Given the description of an element on the screen output the (x, y) to click on. 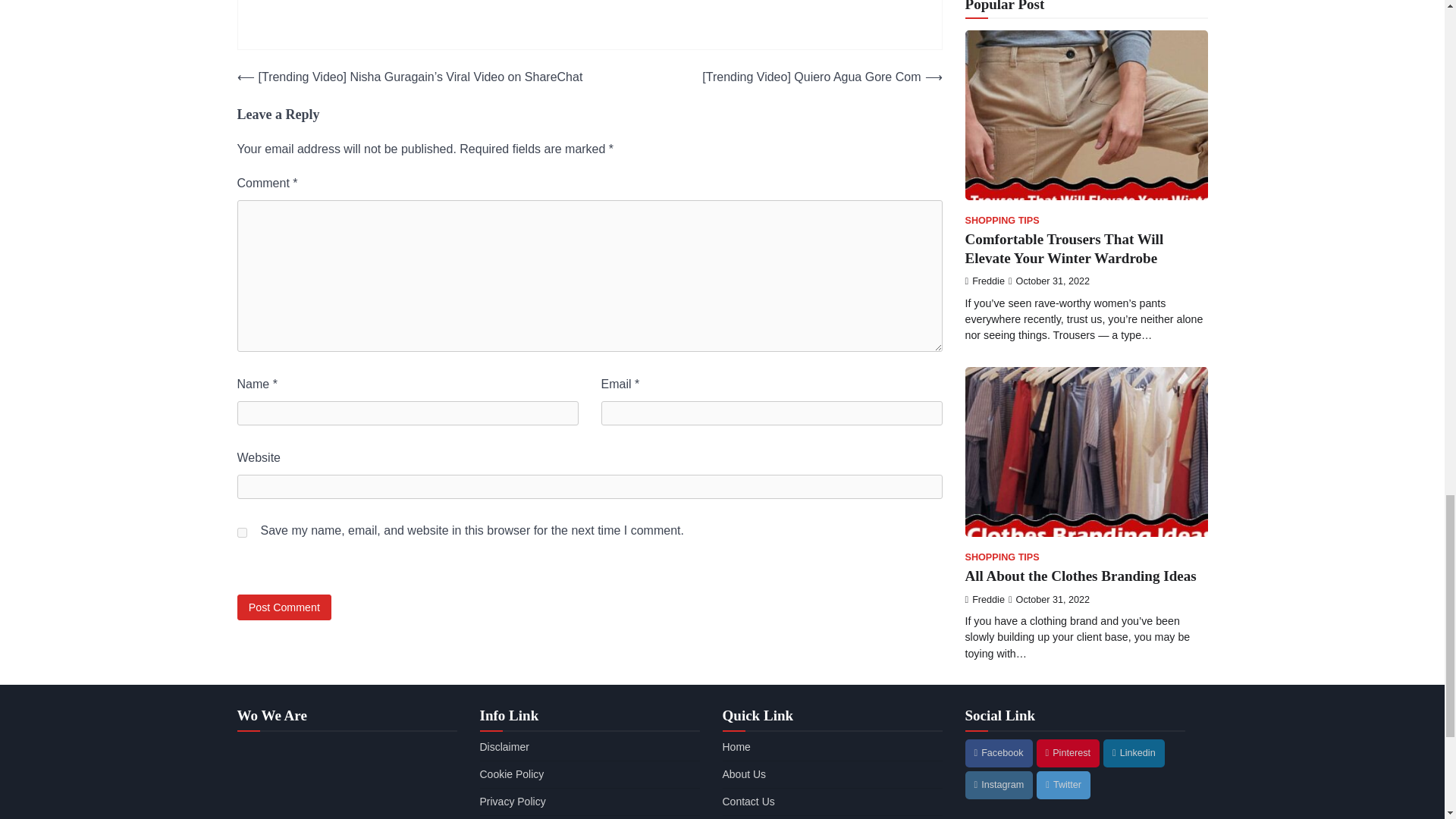
Post Comment (283, 606)
Post Comment (283, 606)
yes (240, 532)
